Given the description of an element on the screen output the (x, y) to click on. 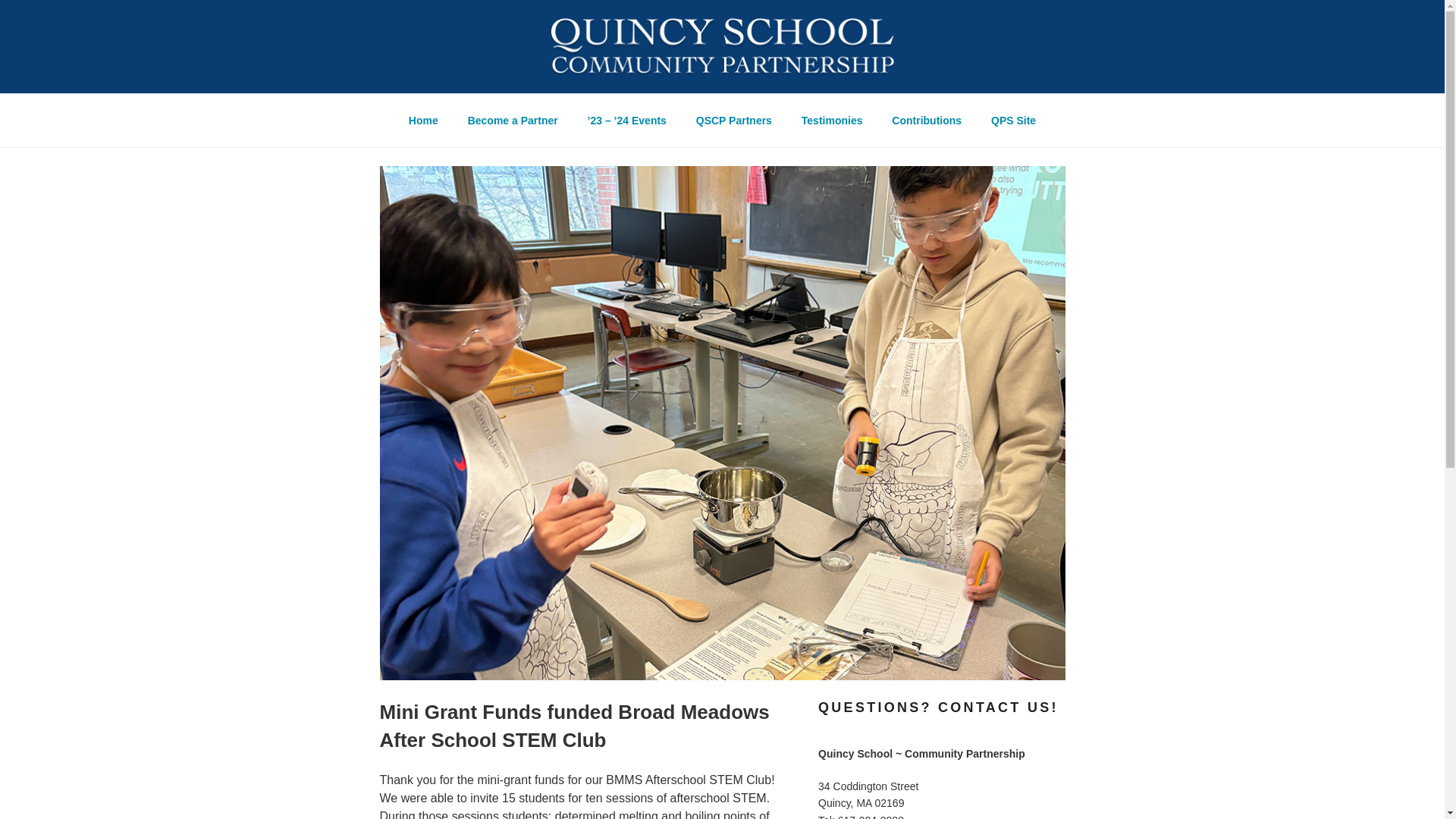
QSCP Partners (733, 120)
Home (422, 120)
Testimonies (831, 120)
Contributions (927, 120)
Become a Partner (512, 120)
QPS Site (1013, 120)
